Given the description of an element on the screen output the (x, y) to click on. 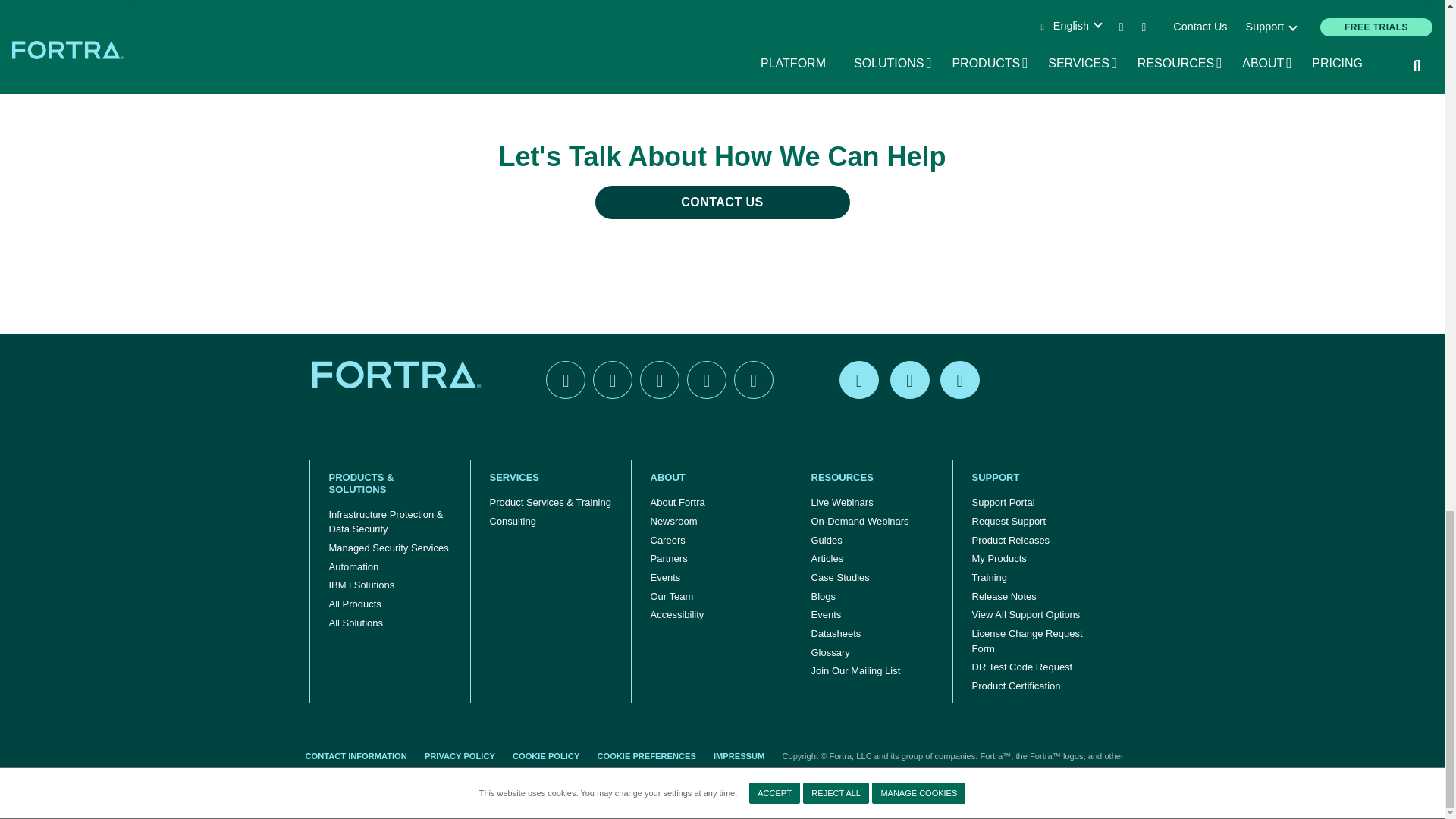
Home (398, 374)
